Given the description of an element on the screen output the (x, y) to click on. 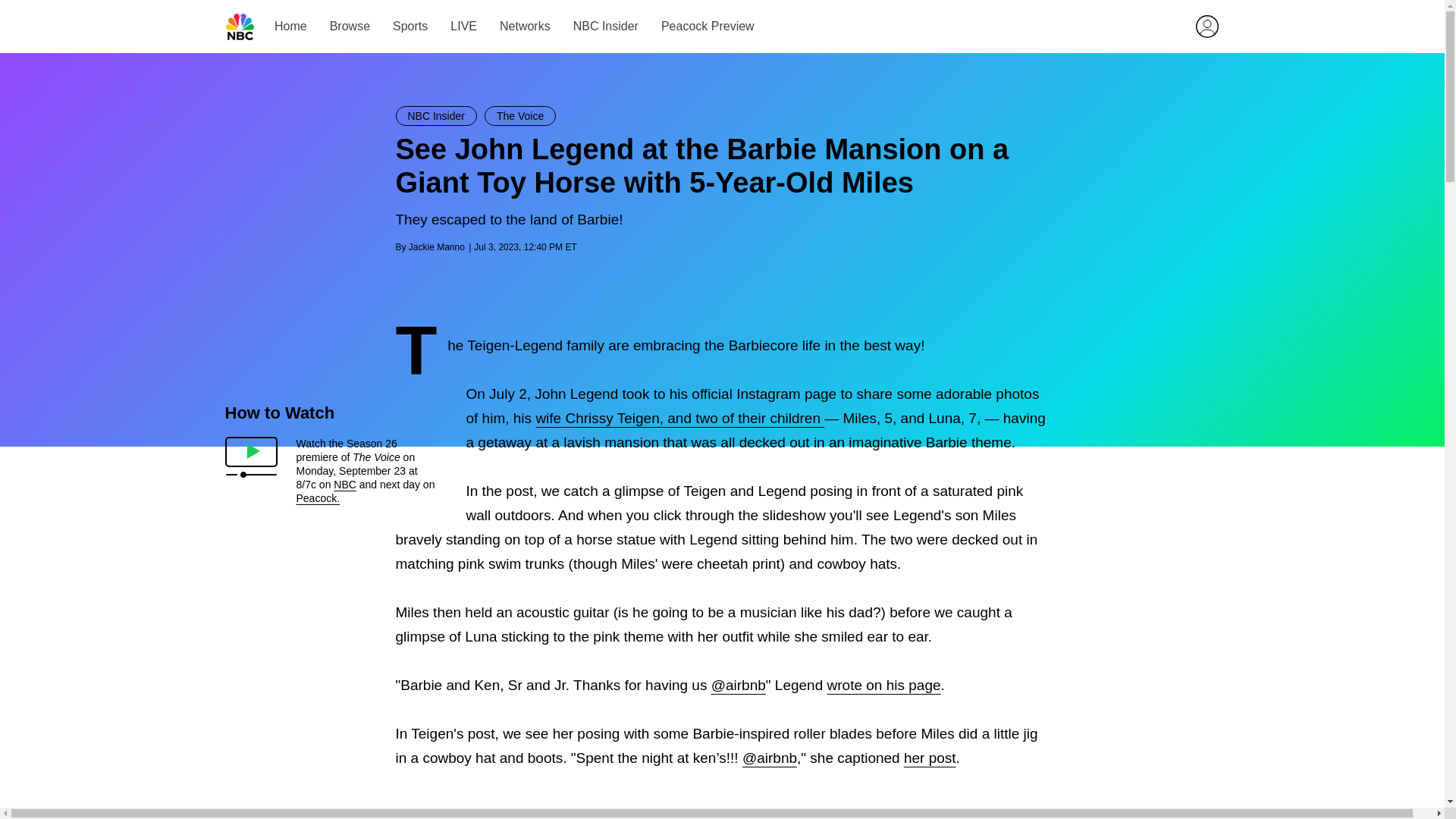
NBC Insider (436, 116)
wrote on his page (883, 684)
NBC (239, 26)
Jackie Manno (436, 246)
Networks (524, 26)
Home (291, 26)
LIVE (463, 26)
Peacock. (317, 498)
NBC (344, 484)
Browse (349, 26)
Sports (410, 26)
Peacock Preview (707, 26)
The Voice (520, 116)
